Given the description of an element on the screen output the (x, y) to click on. 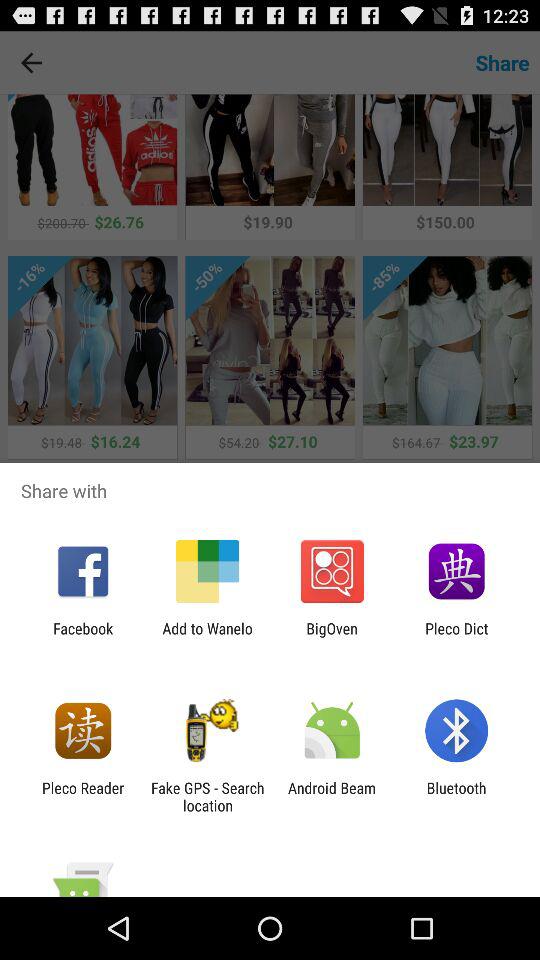
jump until bluetooth icon (456, 796)
